Given the description of an element on the screen output the (x, y) to click on. 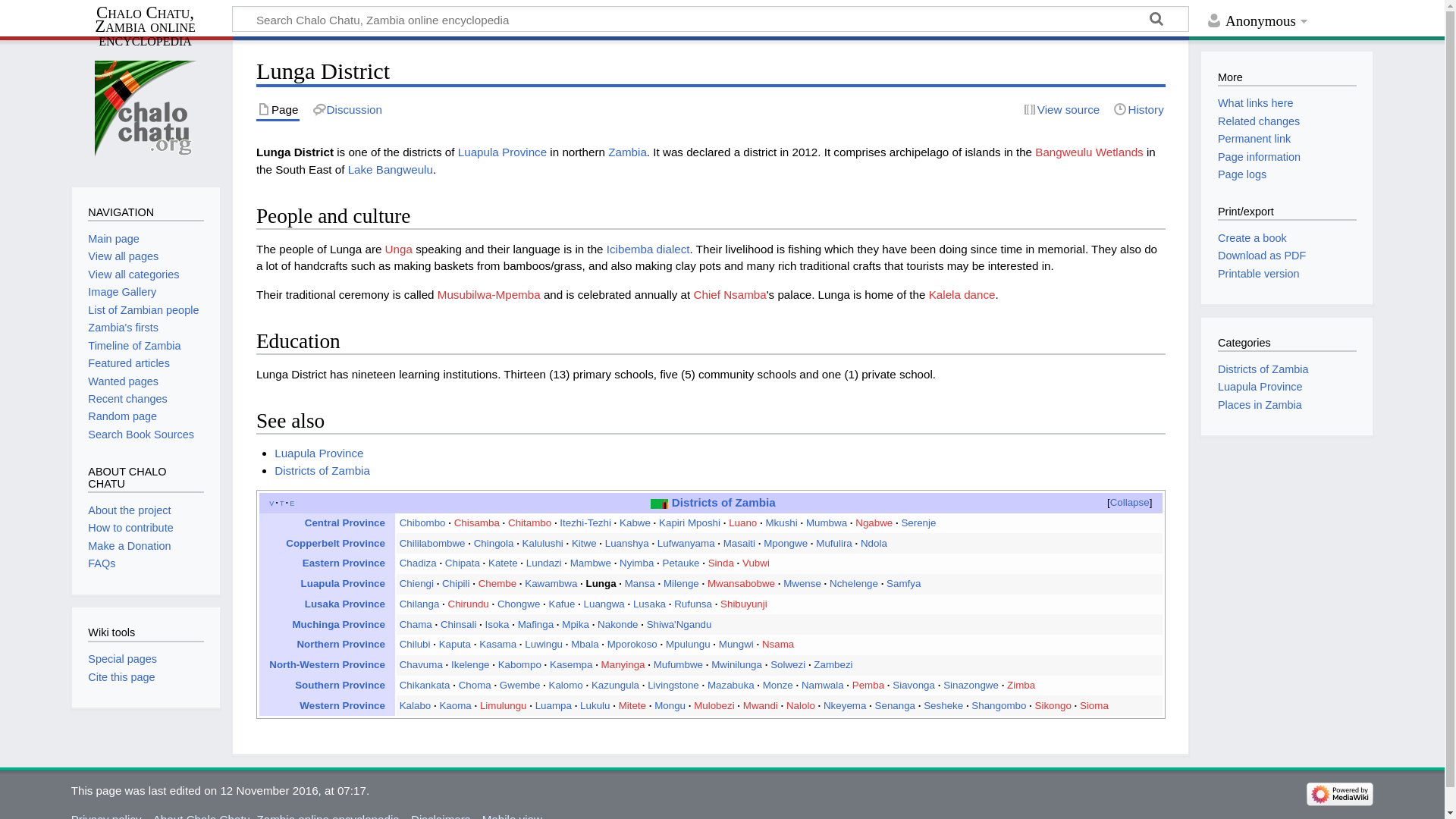
Lake Bangweulu (389, 169)
Chibombo (421, 522)
Districts of Zambia (322, 470)
Go (1155, 21)
Unga (398, 248)
Search the pages for this text (1155, 21)
Chalo Chatu, Zambia online encyclopedia (151, 26)
Search (1155, 21)
Bemba language (648, 248)
Page (277, 109)
